Given the description of an element on the screen output the (x, y) to click on. 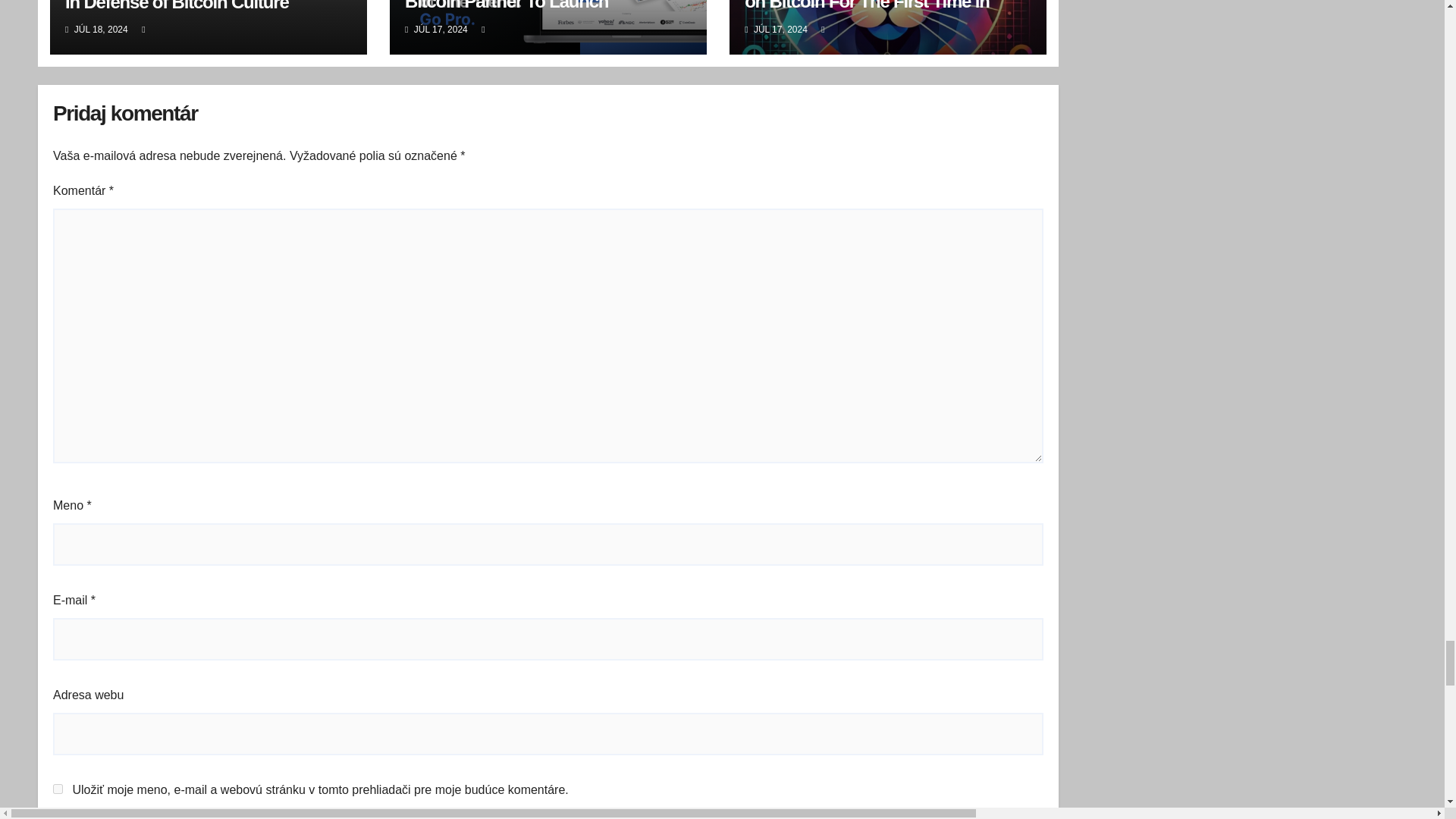
Permalink to: In Defense of Bitcoin Culture (176, 6)
yes (57, 788)
In Defense of Bitcoin Culture (176, 6)
